Given the description of an element on the screen output the (x, y) to click on. 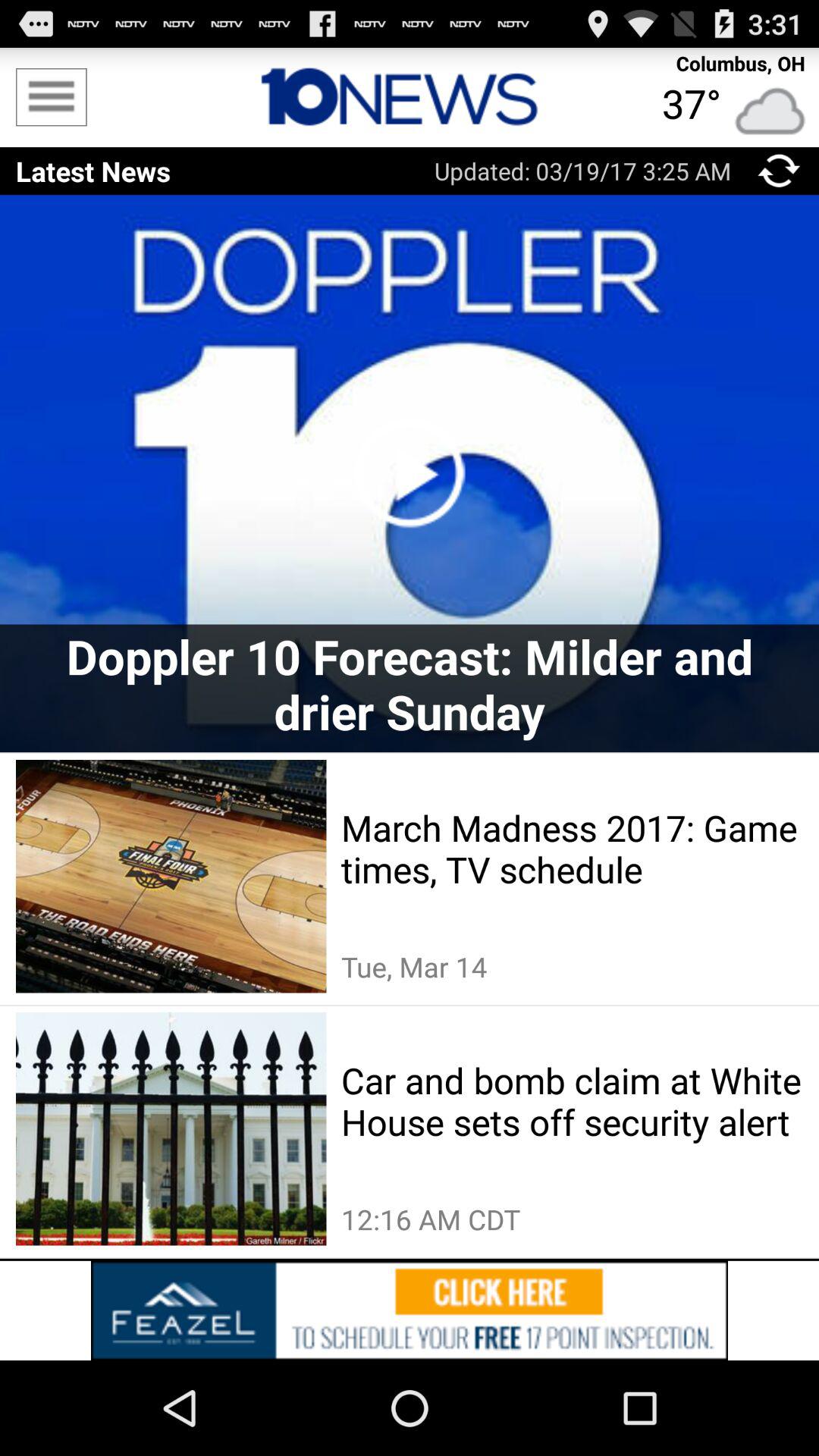
menu button (779, 171)
